Given the description of an element on the screen output the (x, y) to click on. 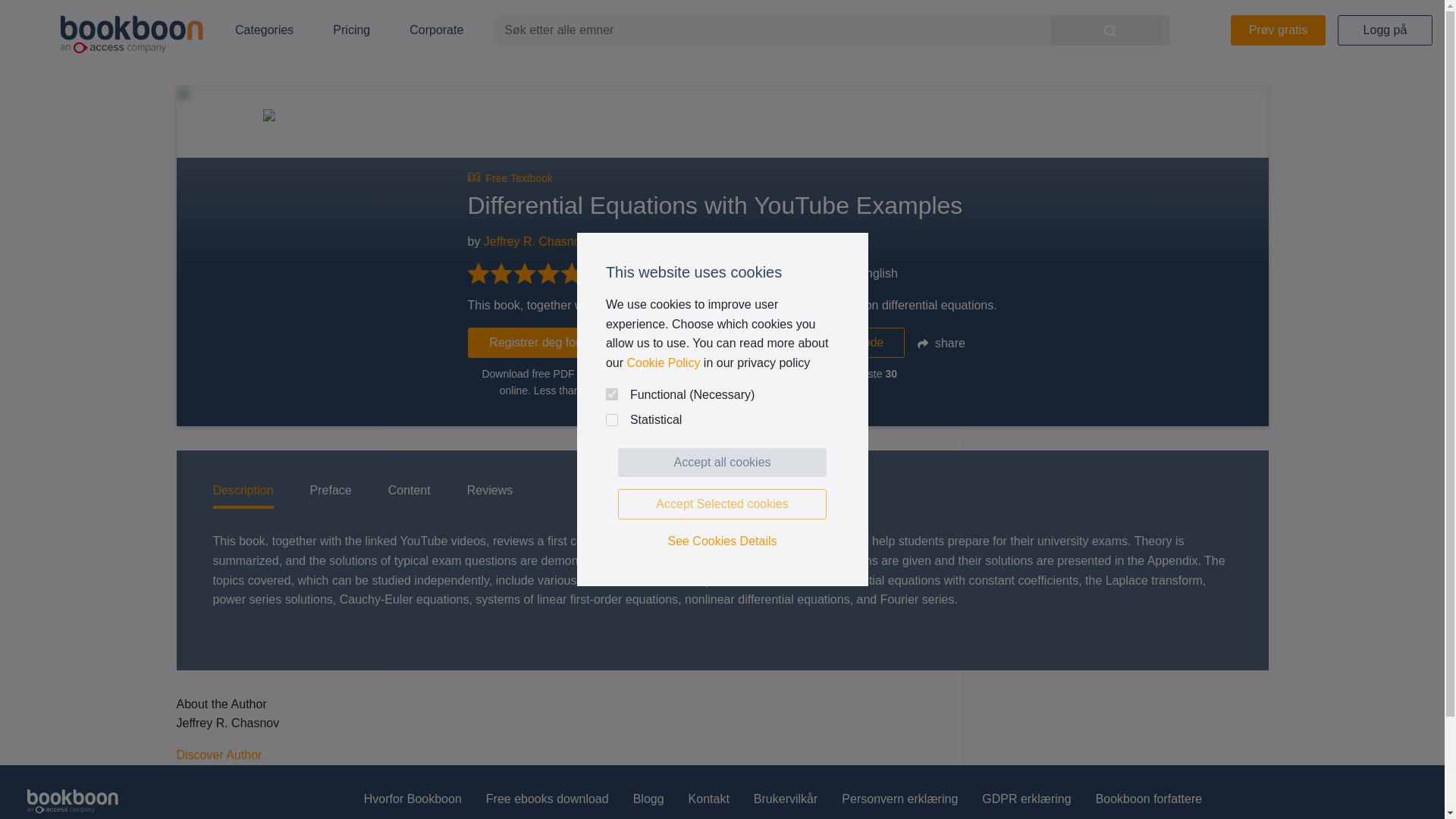
Accept Selected cookies (722, 503)
Categories (264, 30)
Accept all cookies (722, 461)
Cookie Policy (663, 362)
FUNCTIONAL (611, 394)
Pricing (351, 30)
STATISTICAL (611, 419)
See Cookies Details (722, 541)
Corporate (436, 30)
